Given the description of an element on the screen output the (x, y) to click on. 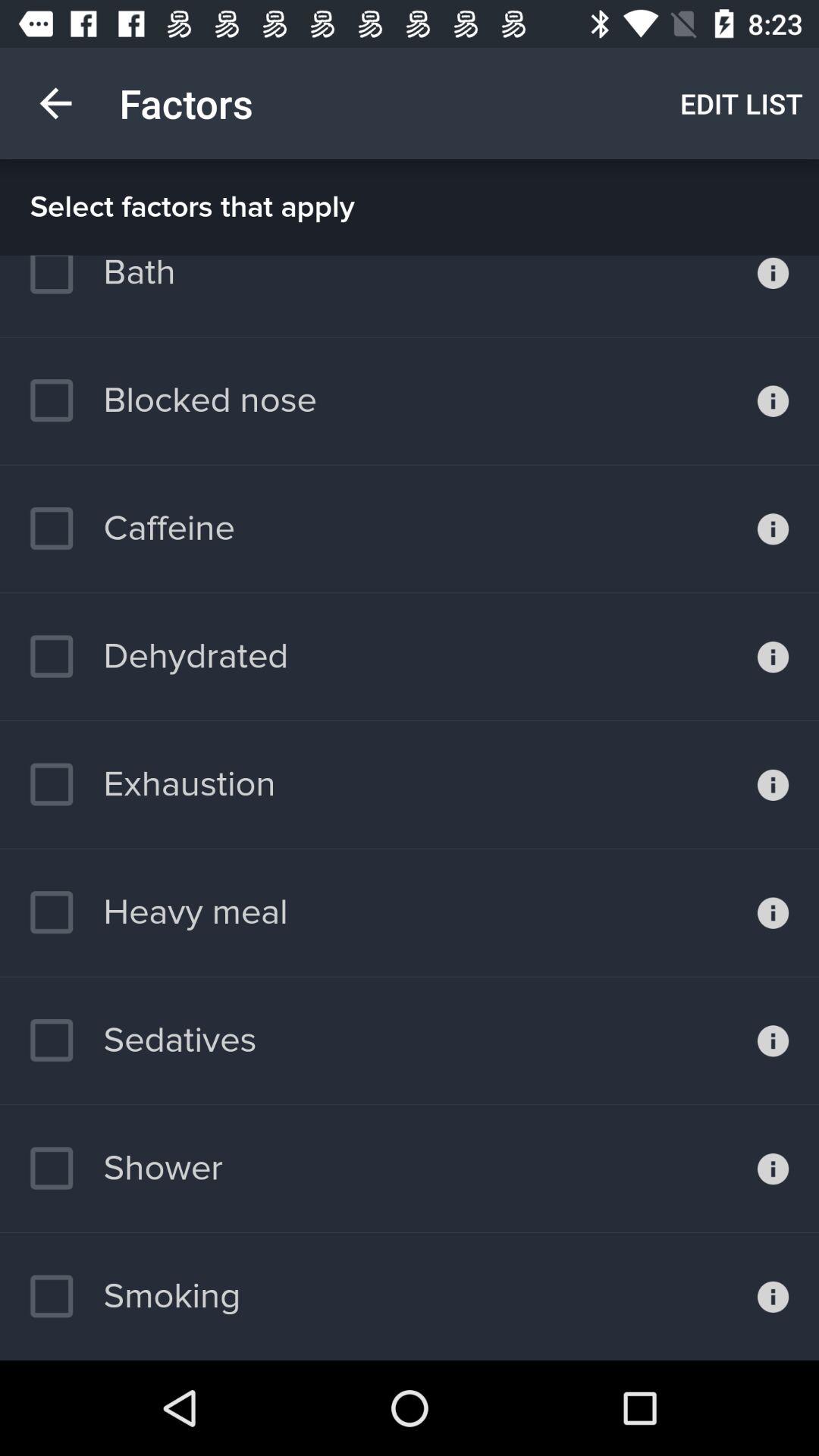
information toggle (773, 1296)
